Given the description of an element on the screen output the (x, y) to click on. 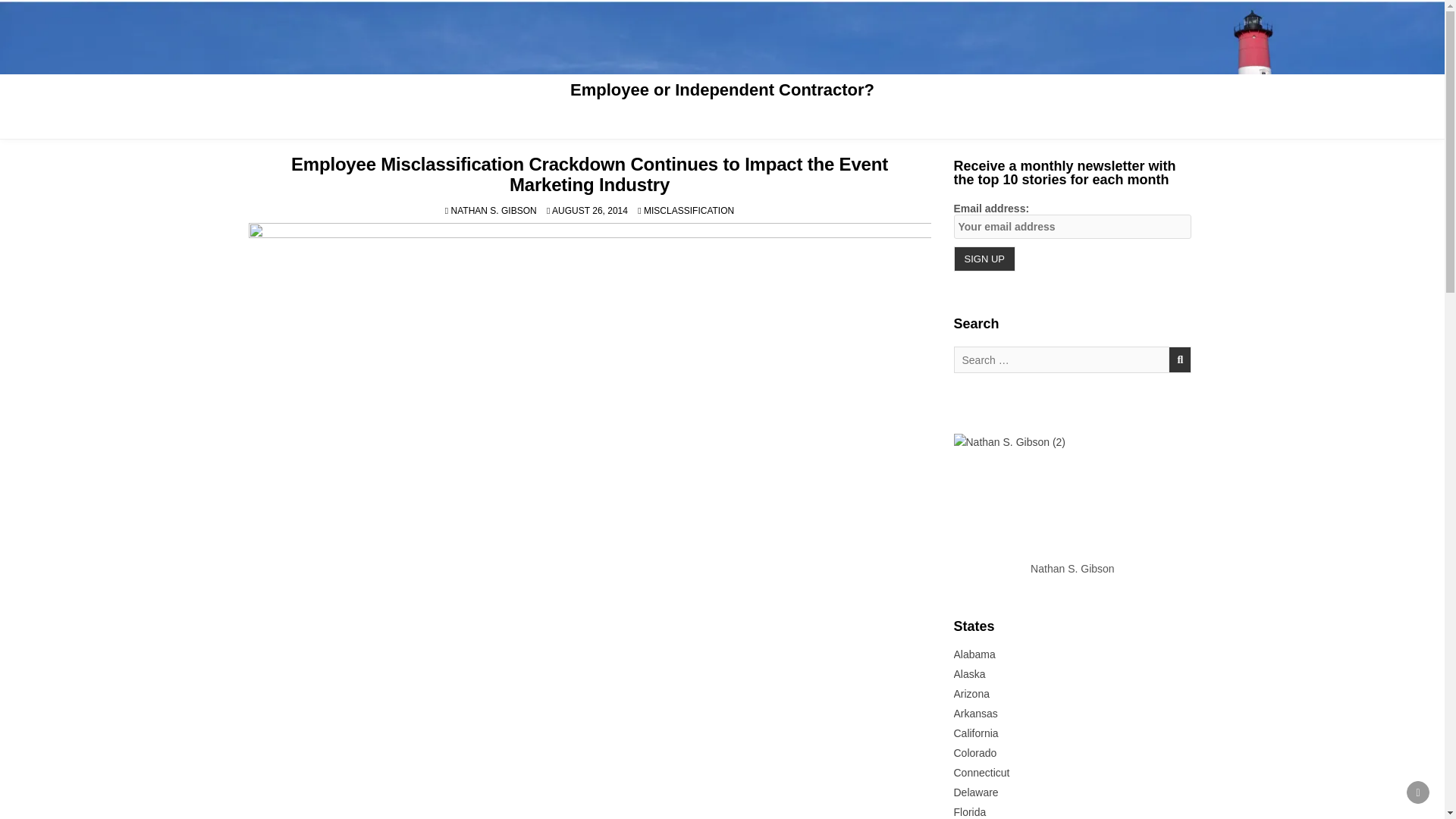
California (975, 733)
Alaska (969, 674)
Sign up (983, 258)
Scroll to Top (1417, 792)
SCROLL TO TOP (1417, 792)
Arizona (971, 693)
NATHAN S. GIBSON (494, 210)
Alabama (974, 654)
Employee or Independent Contractor? (722, 89)
Florida (970, 811)
